Given the description of an element on the screen output the (x, y) to click on. 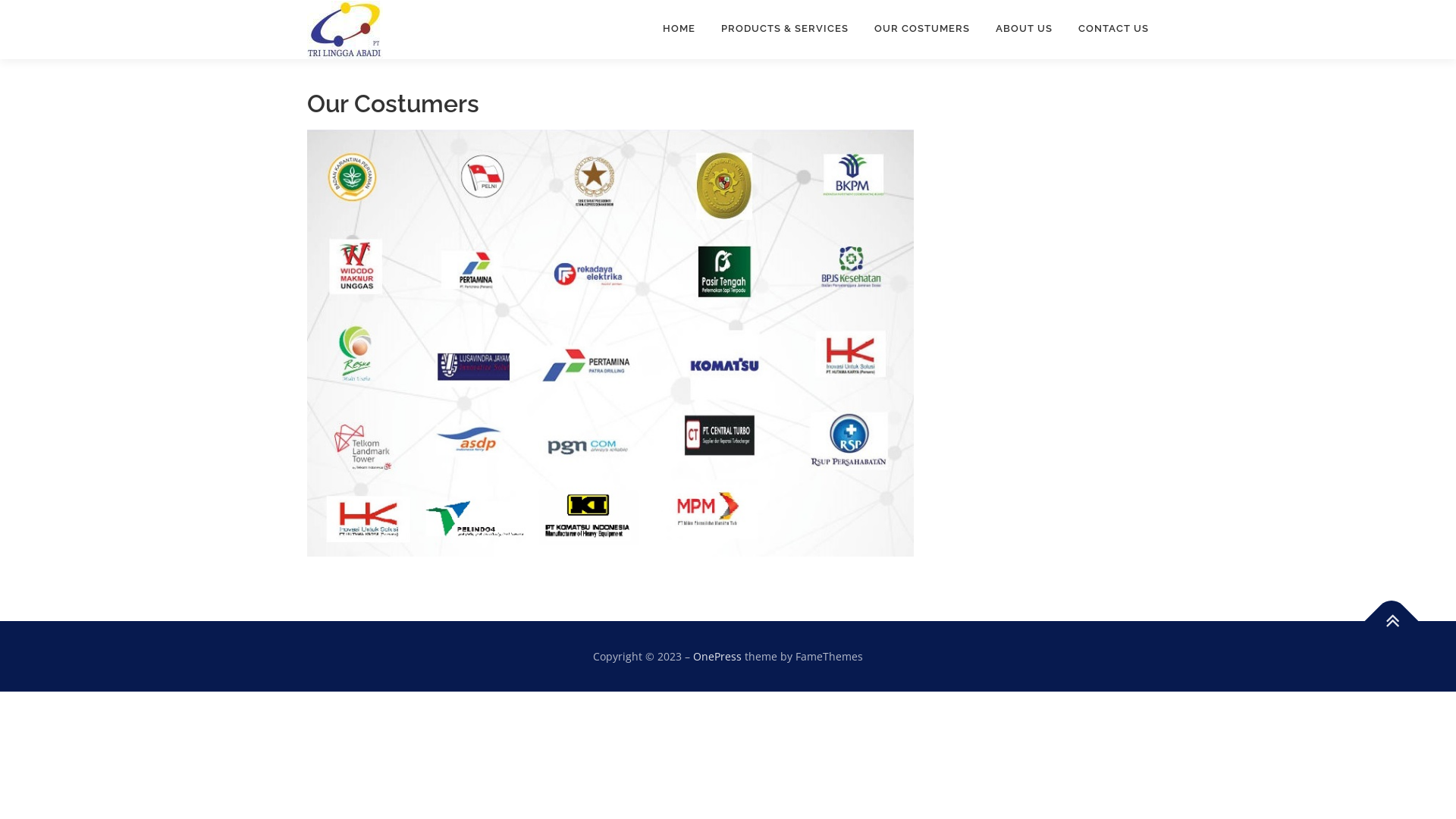
OUR COSTUMERS Element type: text (921, 28)
CONTACT US Element type: text (1106, 28)
HOME Element type: text (678, 28)
Back To Top Element type: hover (1383, 612)
PRODUCTS & SERVICES Element type: text (784, 28)
OnePress Element type: text (717, 656)
ABOUT US Element type: text (1023, 28)
